Given the description of an element on the screen output the (x, y) to click on. 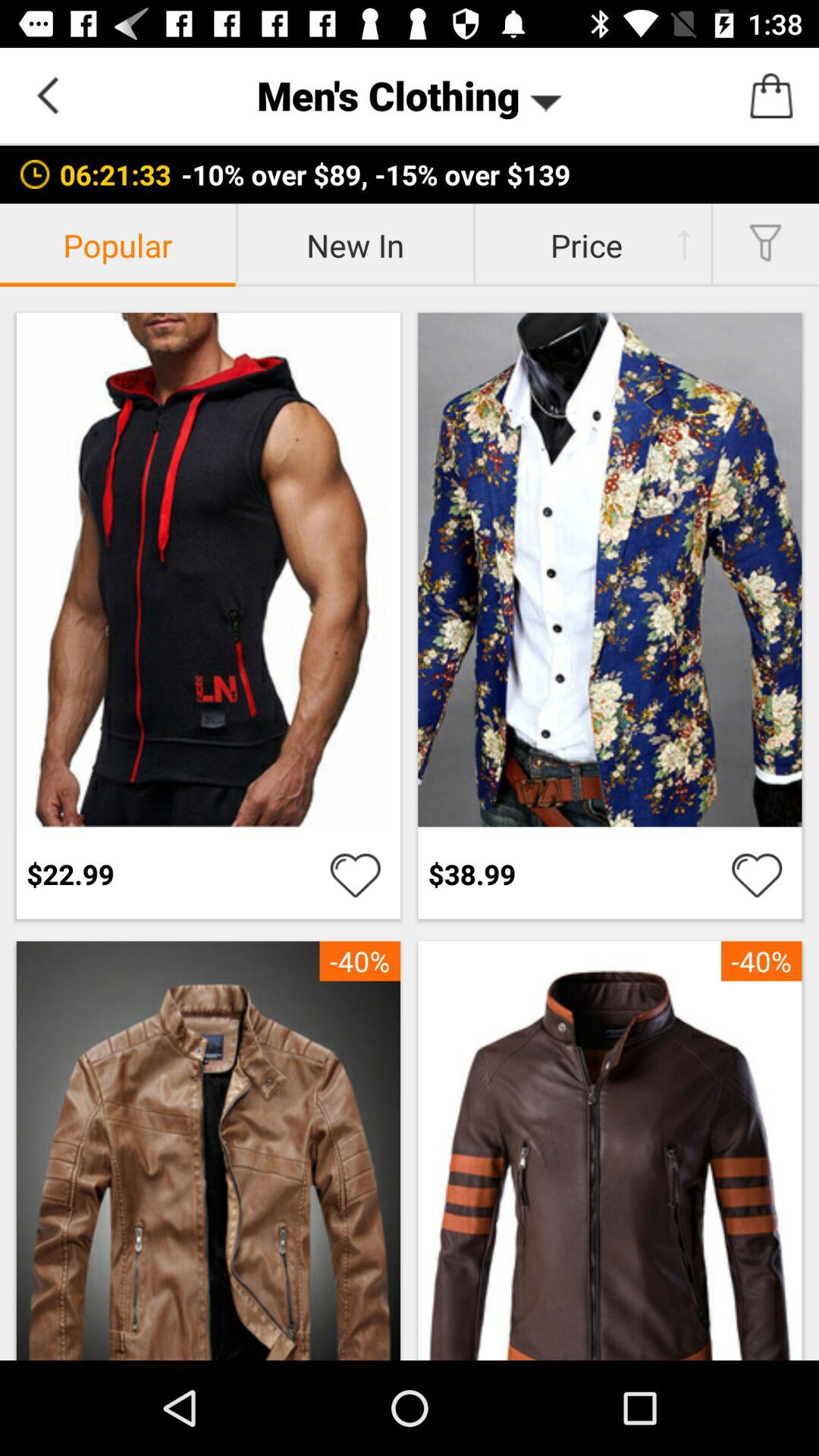
go back (47, 95)
